Given the description of an element on the screen output the (x, y) to click on. 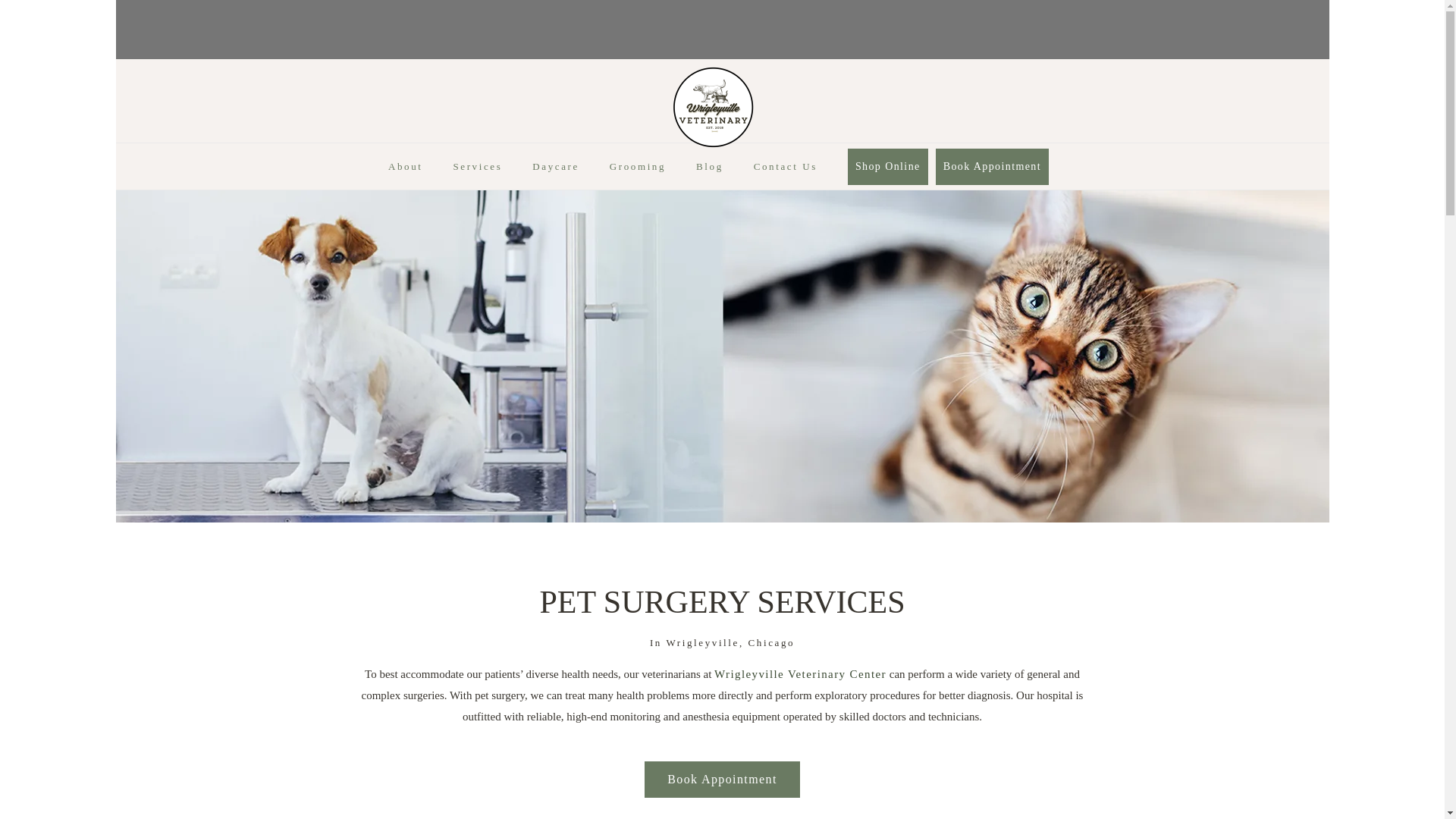
About (405, 169)
Blog (709, 169)
Book Appointment (992, 166)
Book Appointment (722, 779)
Daycare (555, 169)
Contact Us (785, 169)
Grooming (637, 169)
Logo (712, 107)
Services (477, 169)
About (405, 169)
